Given the description of an element on the screen output the (x, y) to click on. 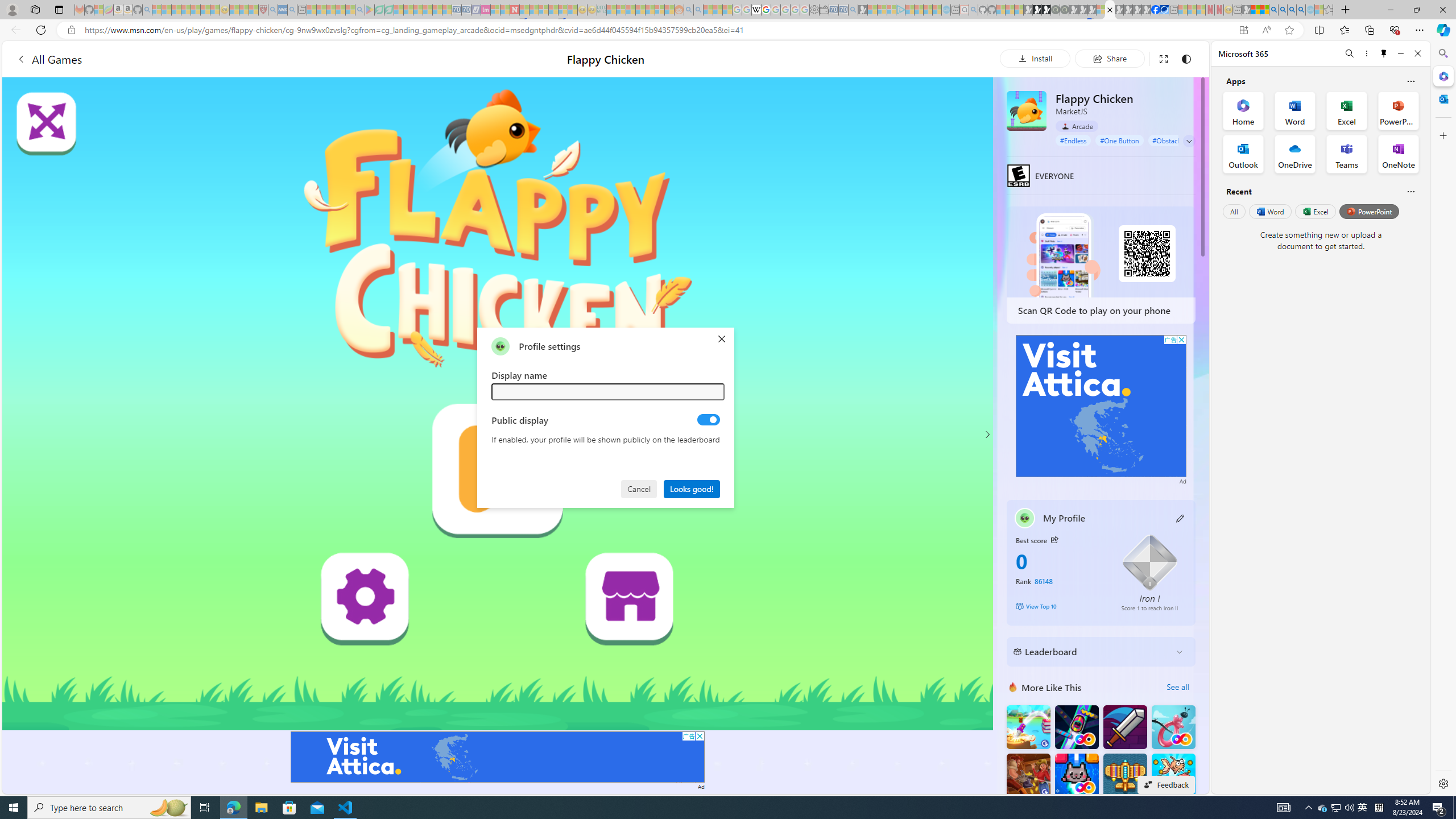
Close Microsoft 365 pane (1442, 76)
Excel Office App (1346, 110)
Google Chrome Internet Browser Download - Search Images (1300, 9)
More Like This (1012, 686)
Target page - Wikipedia (755, 9)
Class: button (1053, 539)
Favorites - Sleeping (1328, 9)
